Given the description of an element on the screen output the (x, y) to click on. 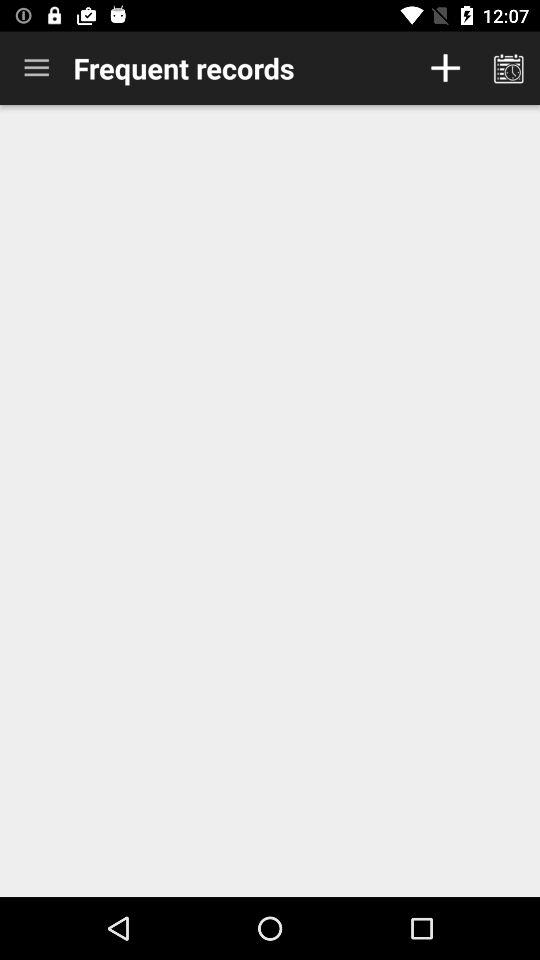
press the icon next to the frequent records item (36, 68)
